Given the description of an element on the screen output the (x, y) to click on. 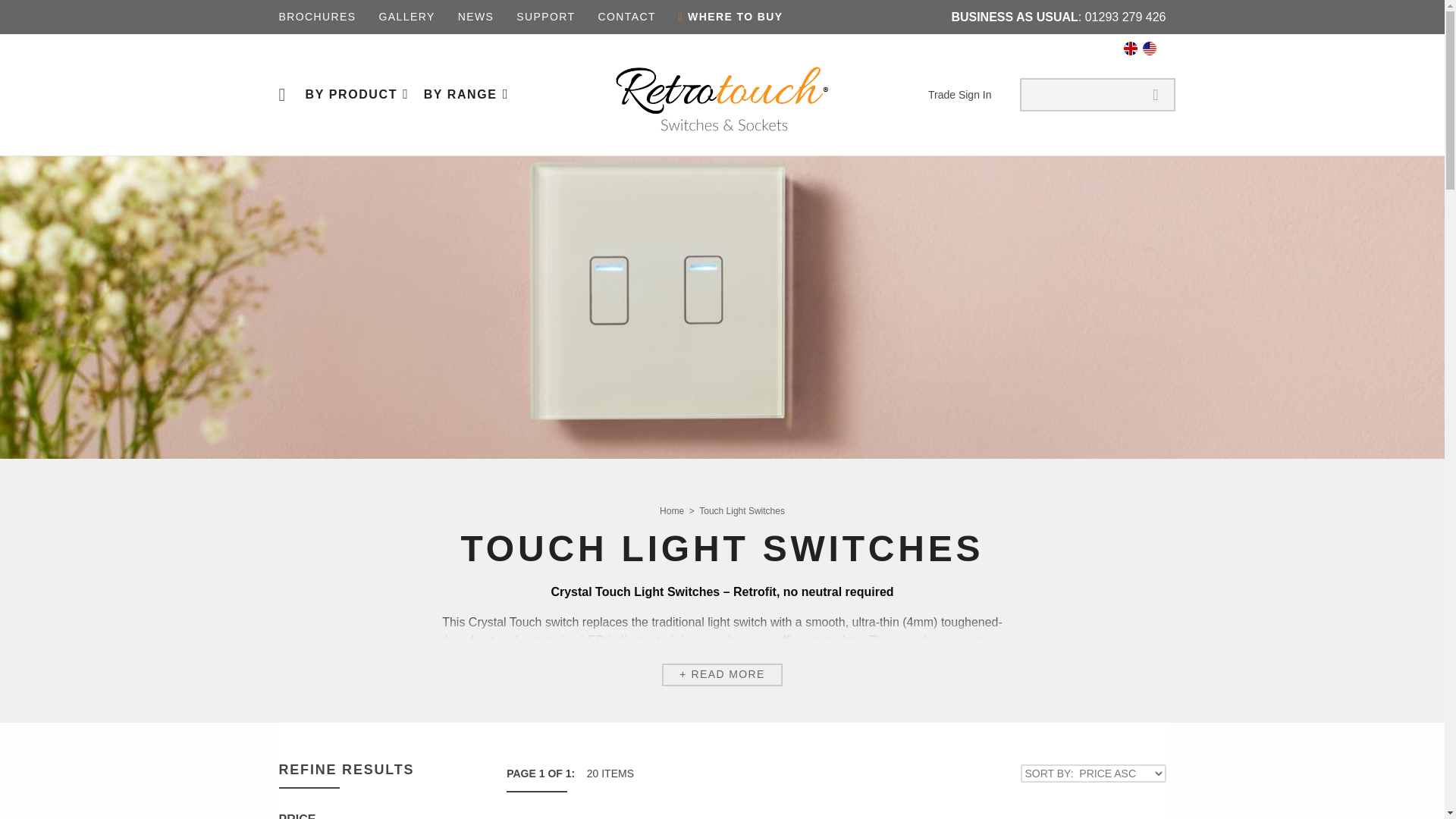
READ MORE (722, 675)
Home (671, 509)
Minimise (477, 816)
Minimise (375, 816)
